Given the description of an element on the screen output the (x, y) to click on. 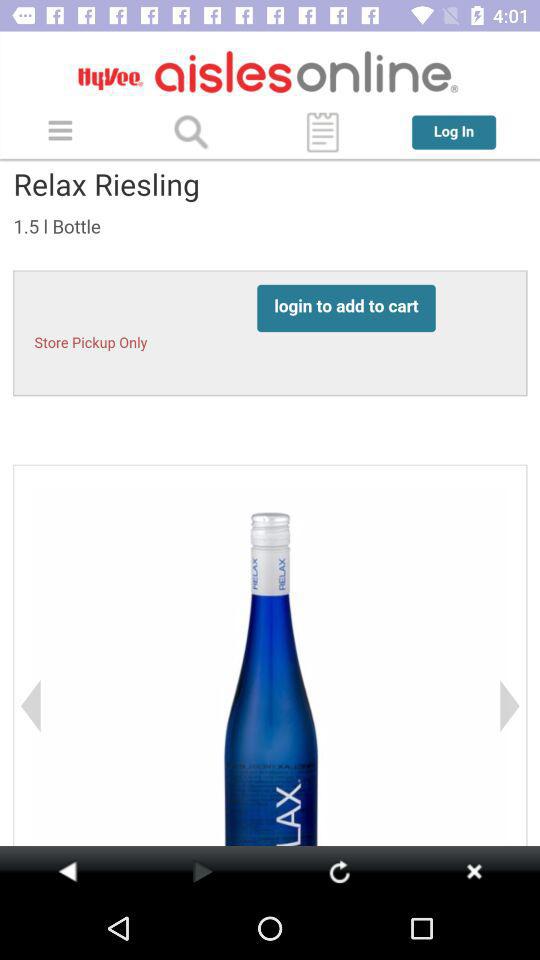
go to back (67, 871)
